Given the description of an element on the screen output the (x, y) to click on. 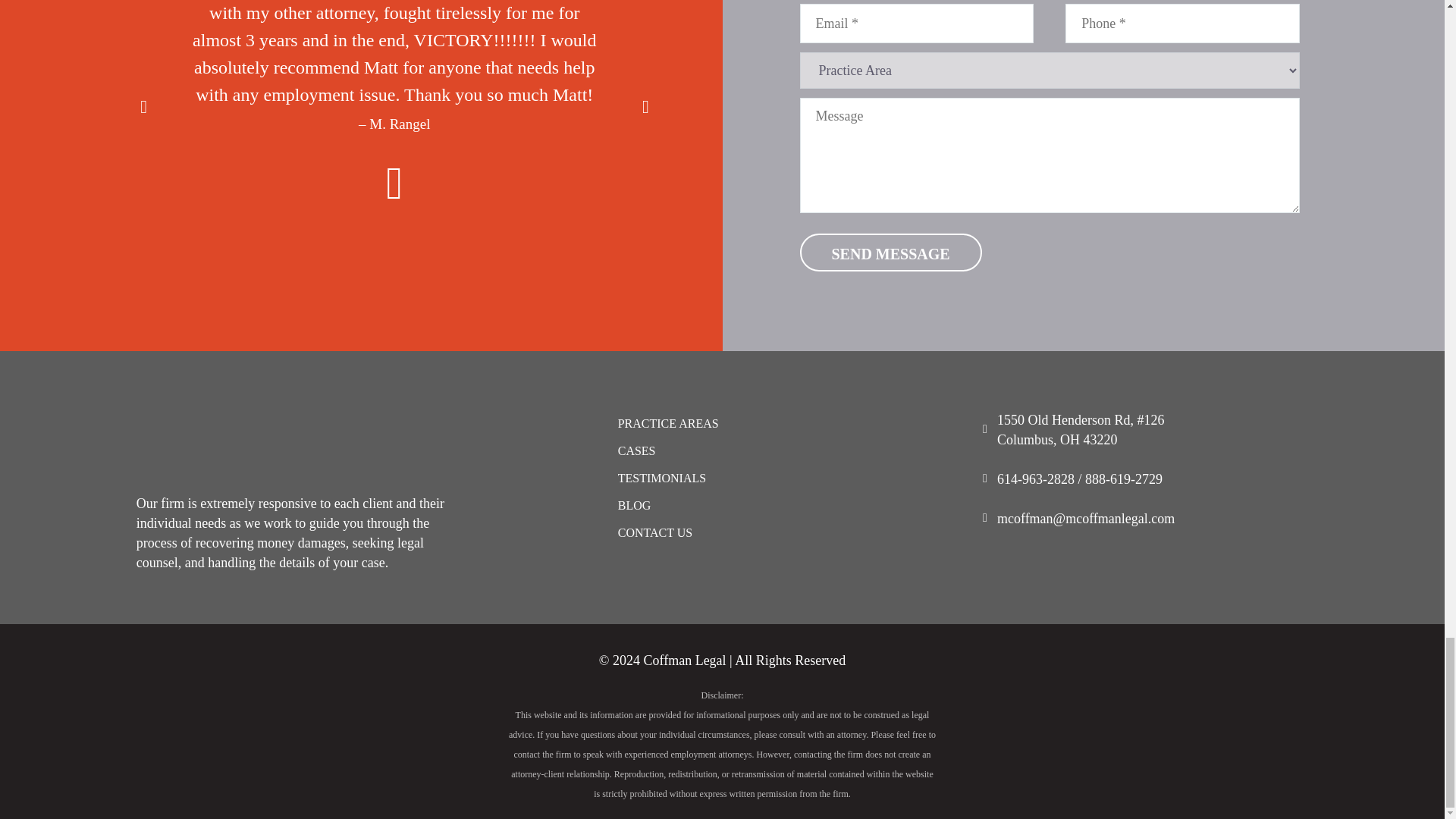
Send Message (890, 252)
